Given the description of an element on the screen output the (x, y) to click on. 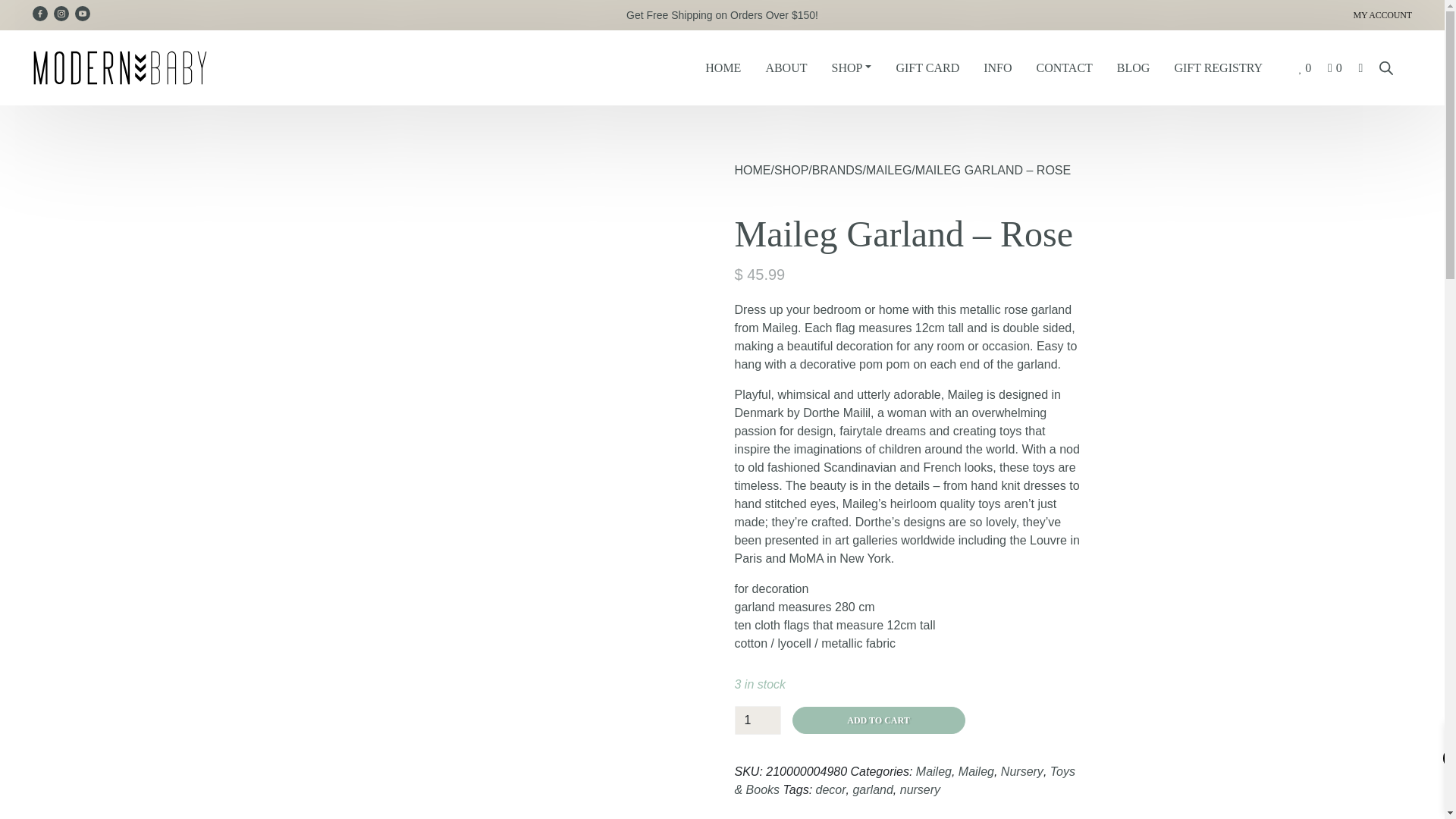
SHOP (850, 68)
MY ACCOUNT (1185, 15)
Home (722, 68)
About (785, 68)
1 (756, 719)
HOME (722, 68)
ABOUT (785, 68)
Shop (850, 68)
